Given the description of an element on the screen output the (x, y) to click on. 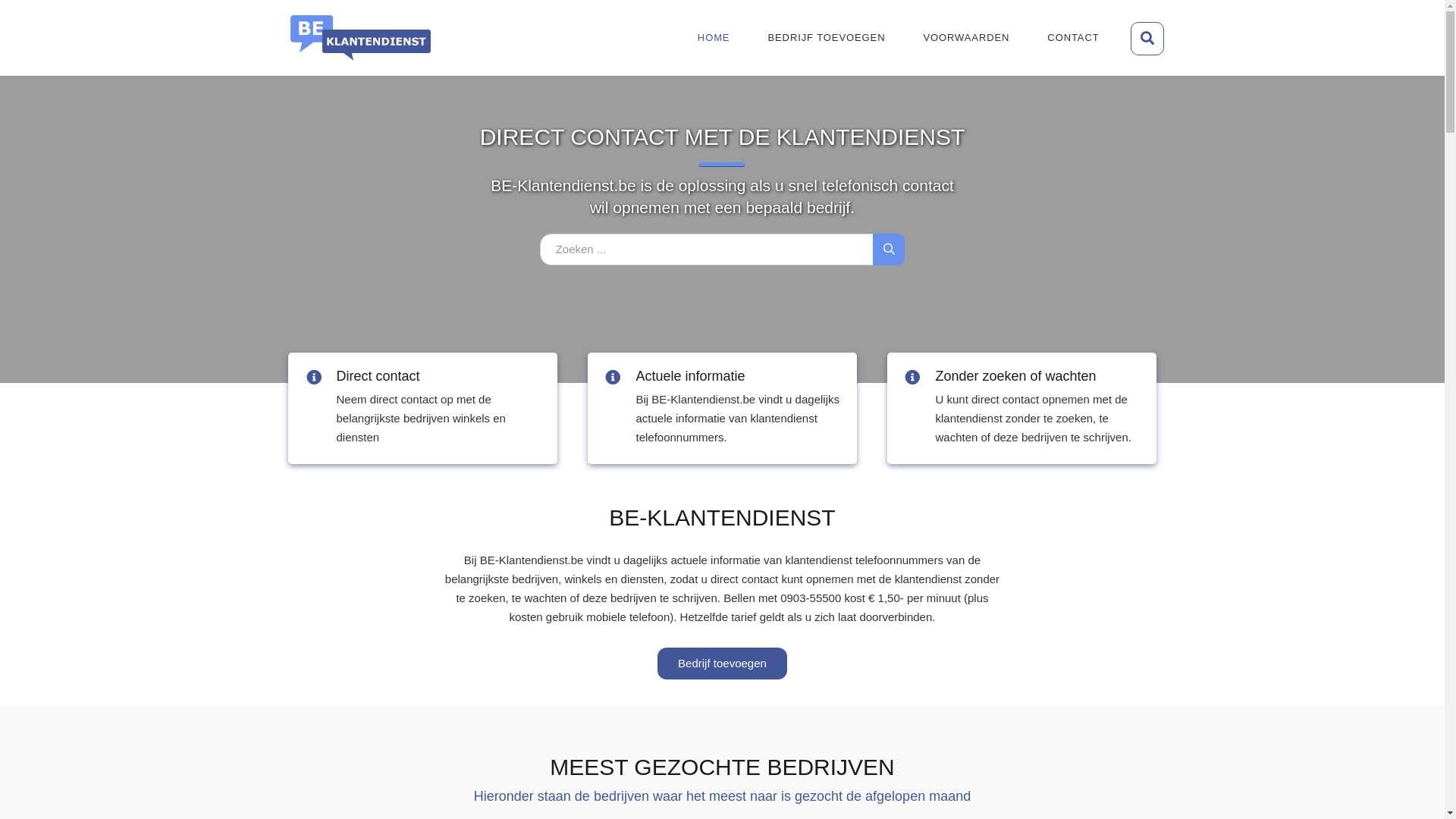
Zoeken Element type: hover (1147, 38)
VOORWAARDEN Element type: text (965, 37)
BEDRIJF TOEVOEGEN Element type: text (825, 37)
HOME Element type: text (713, 37)
Bedrijf toevoegen Element type: text (722, 663)
CONTACT Element type: text (1072, 37)
